Given the description of an element on the screen output the (x, y) to click on. 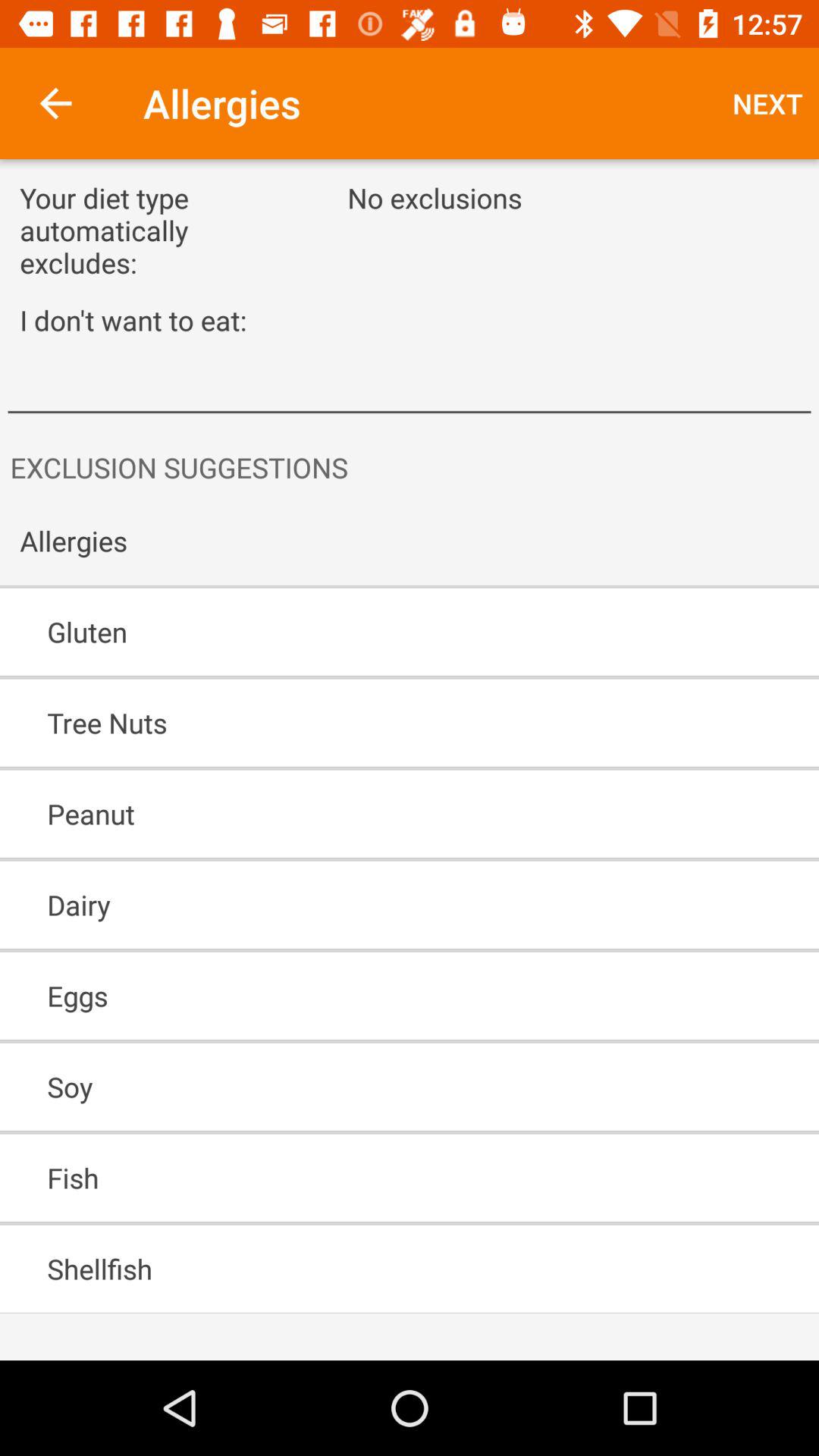
swipe to tree nuts (365, 722)
